Given the description of an element on the screen output the (x, y) to click on. 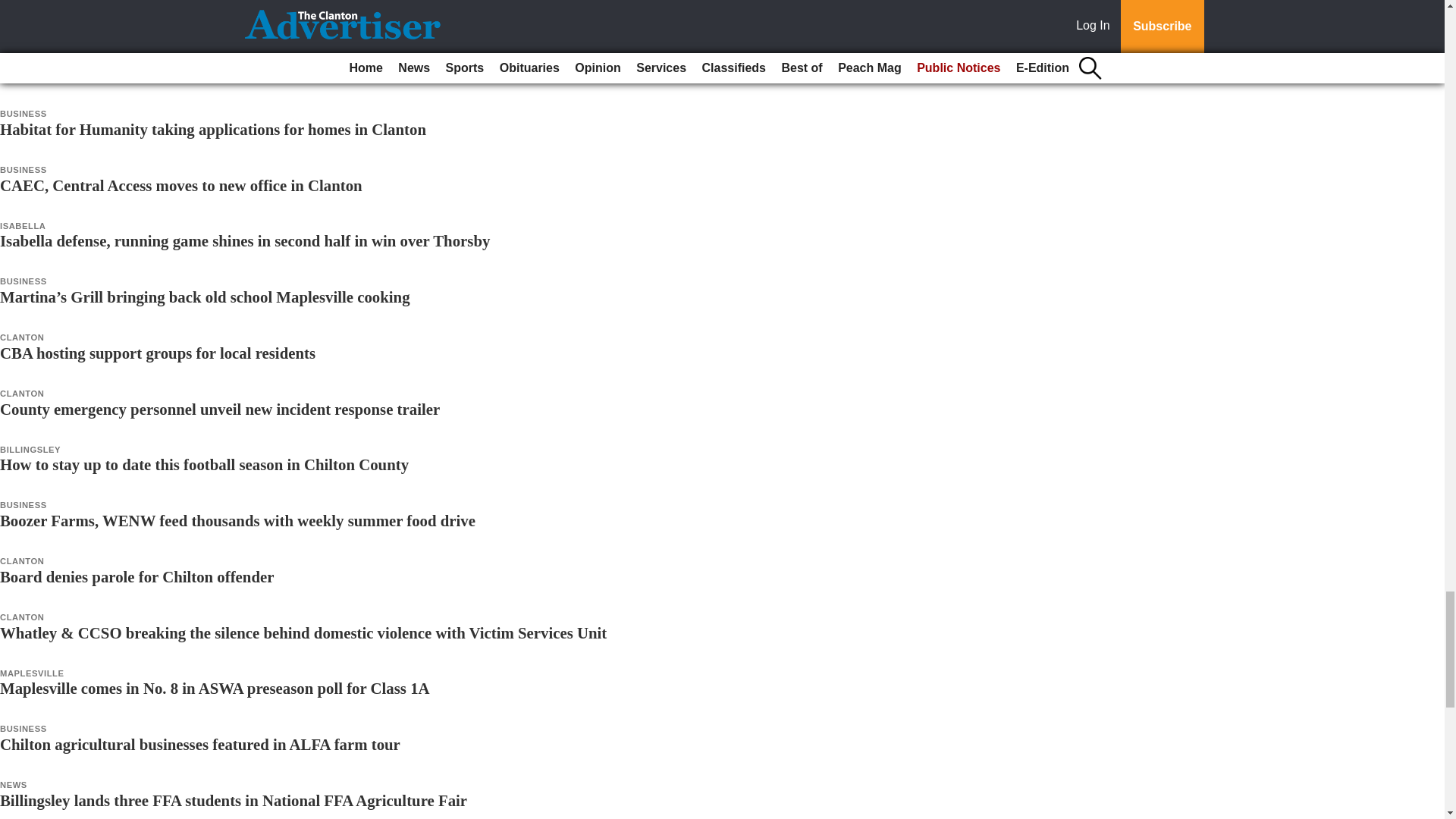
CAEC, Central Access moves to new office in Clanton (181, 185)
CBA hosting support groups for local residents (157, 352)
